Given the description of an element on the screen output the (x, y) to click on. 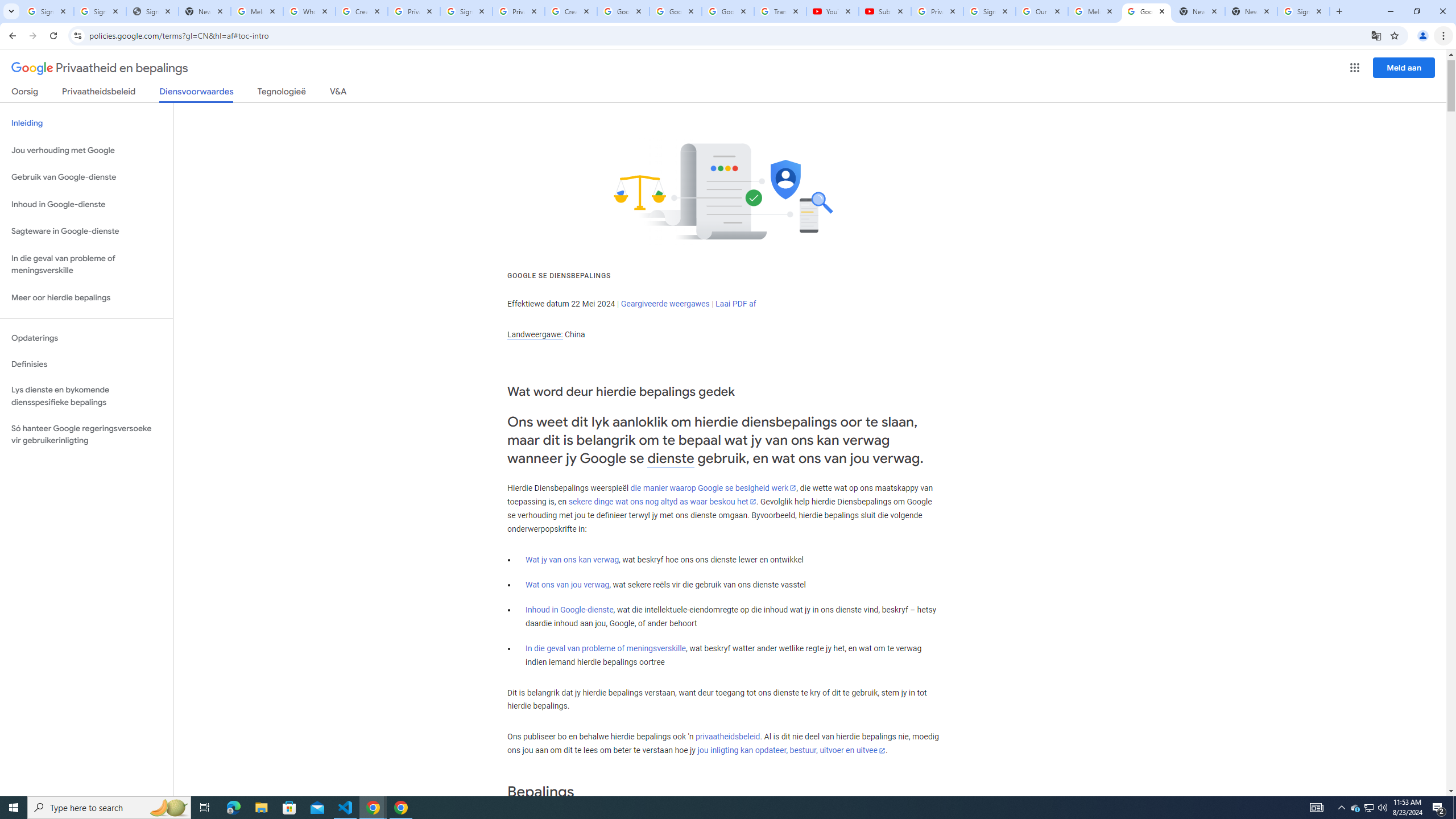
In die geval van probleme of meningsverskille (605, 647)
New Tab (1251, 11)
Create your Google Account (361, 11)
Definisies (86, 363)
Who is my administrator? - Google Account Help (309, 11)
Sign in - Google Accounts (466, 11)
Sign in - Google Accounts (99, 11)
jou inligting kan opdateer, bestuur, uitvoer en uitvee (791, 750)
Landweergawe: (534, 334)
